Given the description of an element on the screen output the (x, y) to click on. 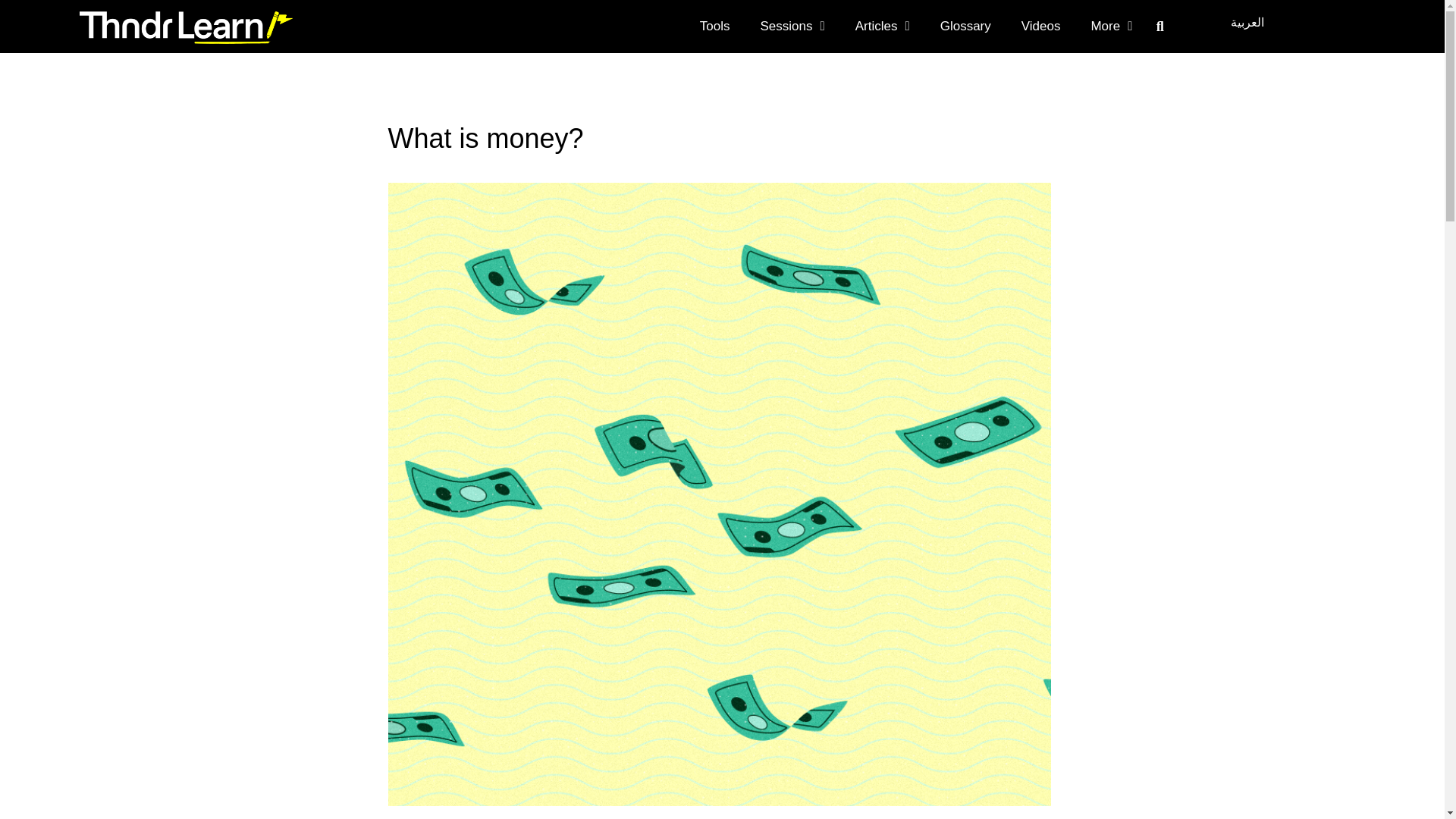
More (1111, 26)
Sessions (792, 26)
Tools (714, 26)
Glossary (965, 26)
Articles (882, 26)
Videos (1040, 26)
